Given the description of an element on the screen output the (x, y) to click on. 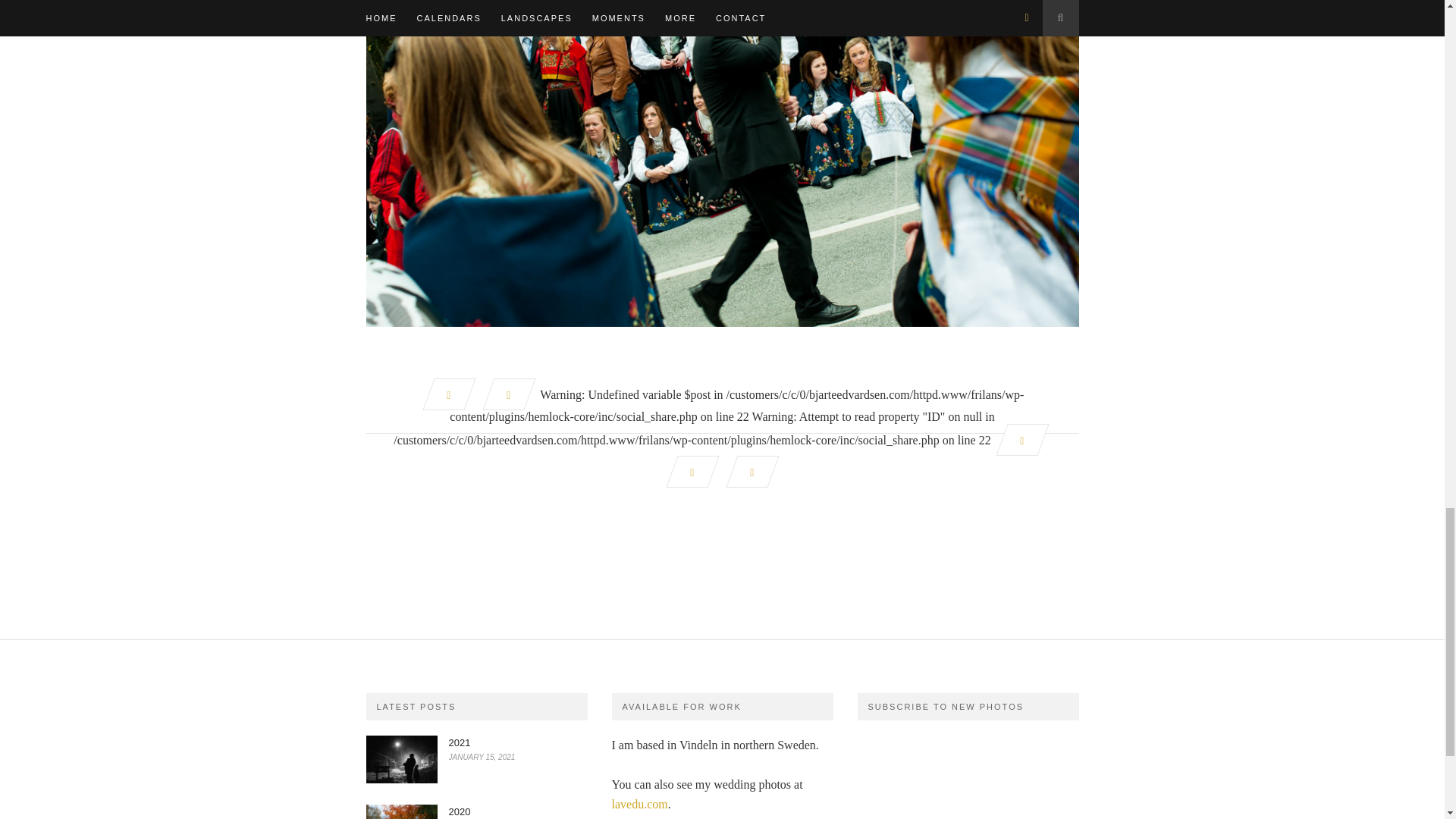
lavedu.com (638, 803)
2021 (459, 742)
2020 (459, 811)
